Given the description of an element on the screen output the (x, y) to click on. 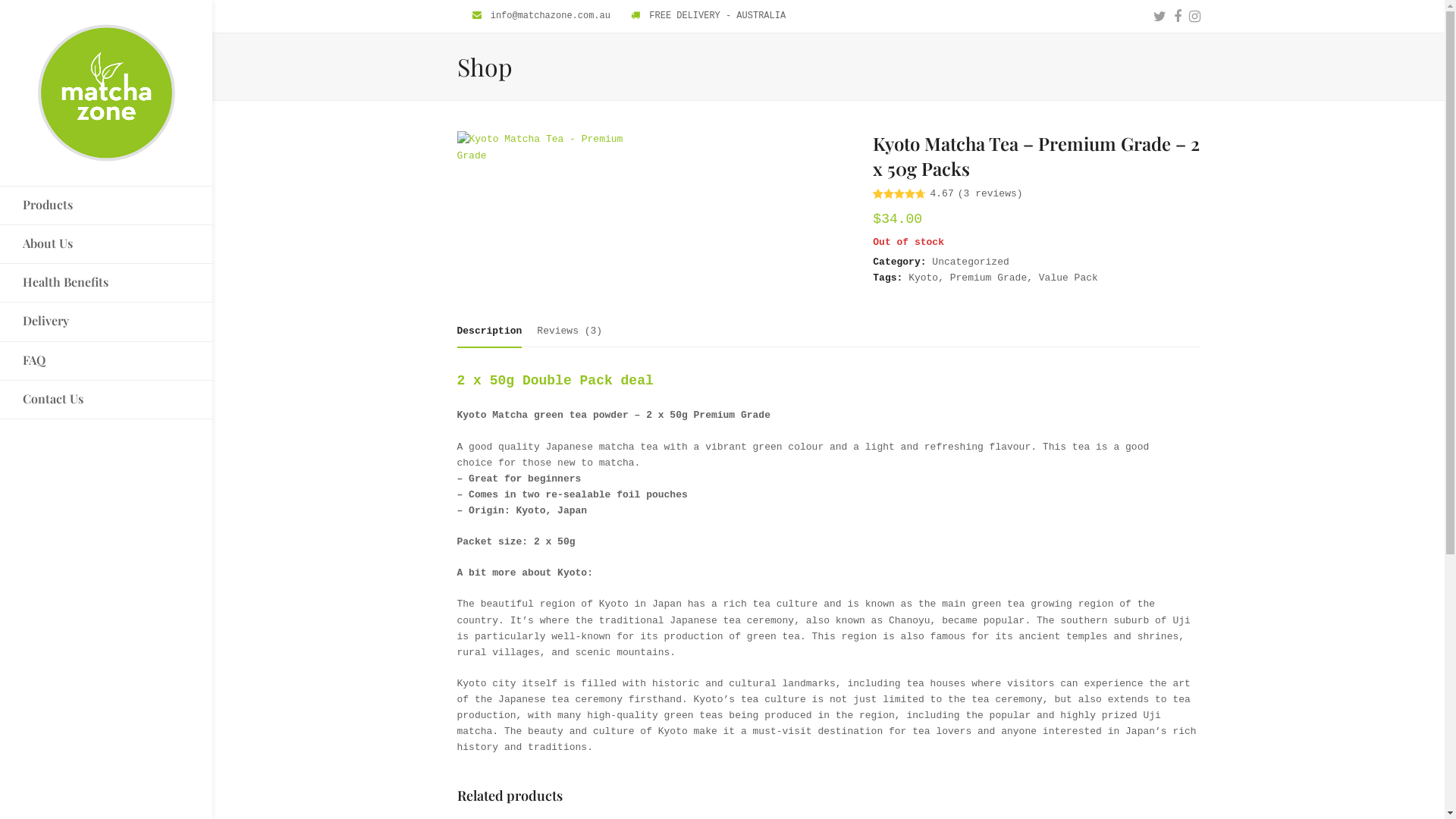
Health Benefits Element type: text (106, 282)
Premium Grade Element type: text (988, 277)
3 reviews Element type: text (989, 193)
Products Element type: text (106, 205)
About Us Element type: text (106, 244)
Twitter Element type: text (1158, 15)
Reviews (3) Element type: text (569, 331)
Delivery Element type: text (106, 321)
Facebook Element type: text (1177, 15)
Value Pack Element type: text (1068, 277)
Instagram Element type: text (1194, 15)
Kyoto-Matcha-Tea-Premium-Grade Element type: hover (553, 215)
Description Element type: text (488, 332)
Kyoto Element type: text (923, 277)
Contact Us Element type: text (106, 399)
FAQ Element type: text (106, 360)
Uncategorized Element type: text (969, 261)
